Given the description of an element on the screen output the (x, y) to click on. 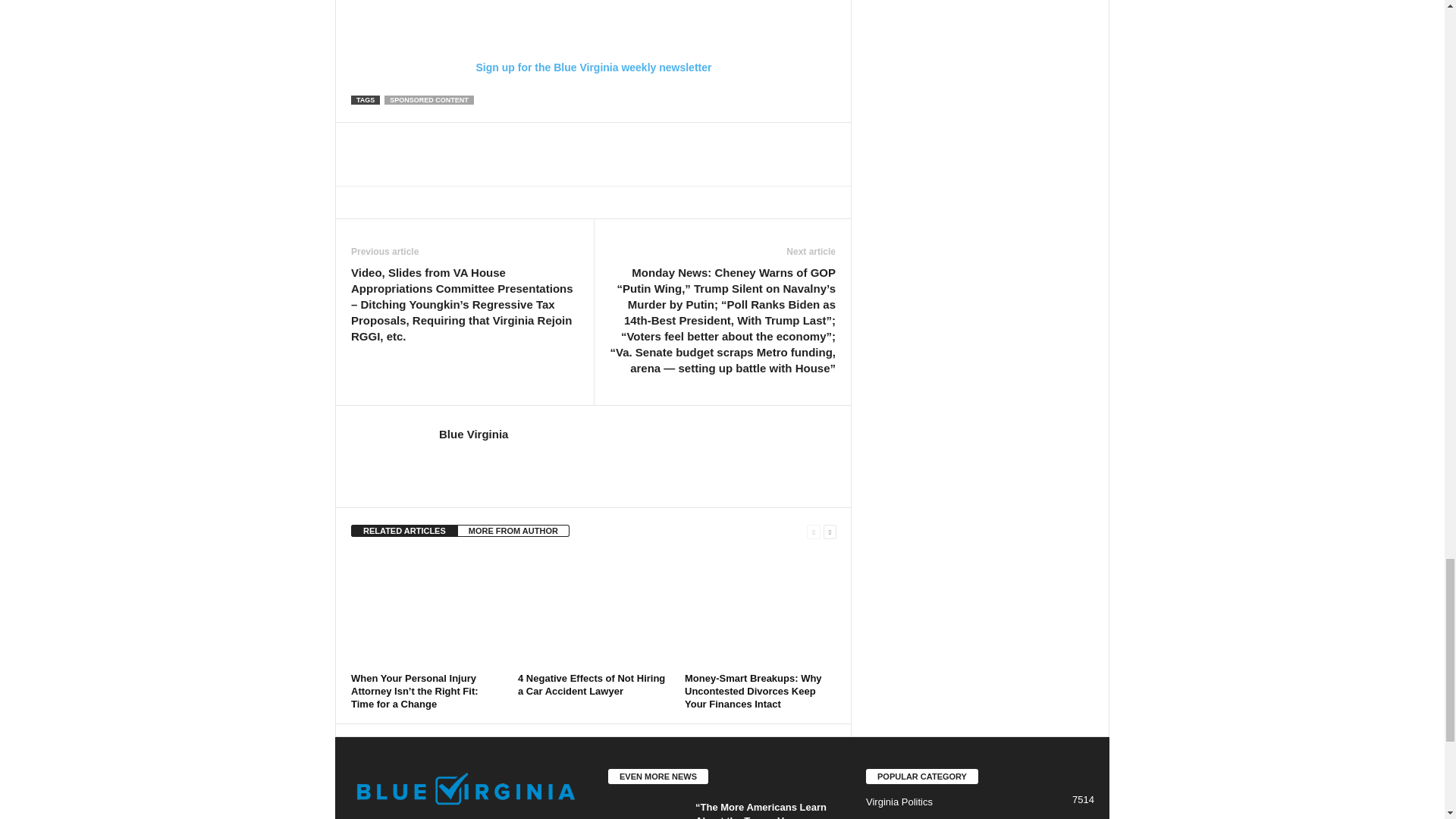
MORE FROM AUTHOR (513, 530)
RELATED ARTICLES (404, 530)
SPONSORED CONTENT (429, 99)
Blue Virginia (473, 433)
Sign up for the Blue Virginia weekly newsletter (592, 36)
